Given the description of an element on the screen output the (x, y) to click on. 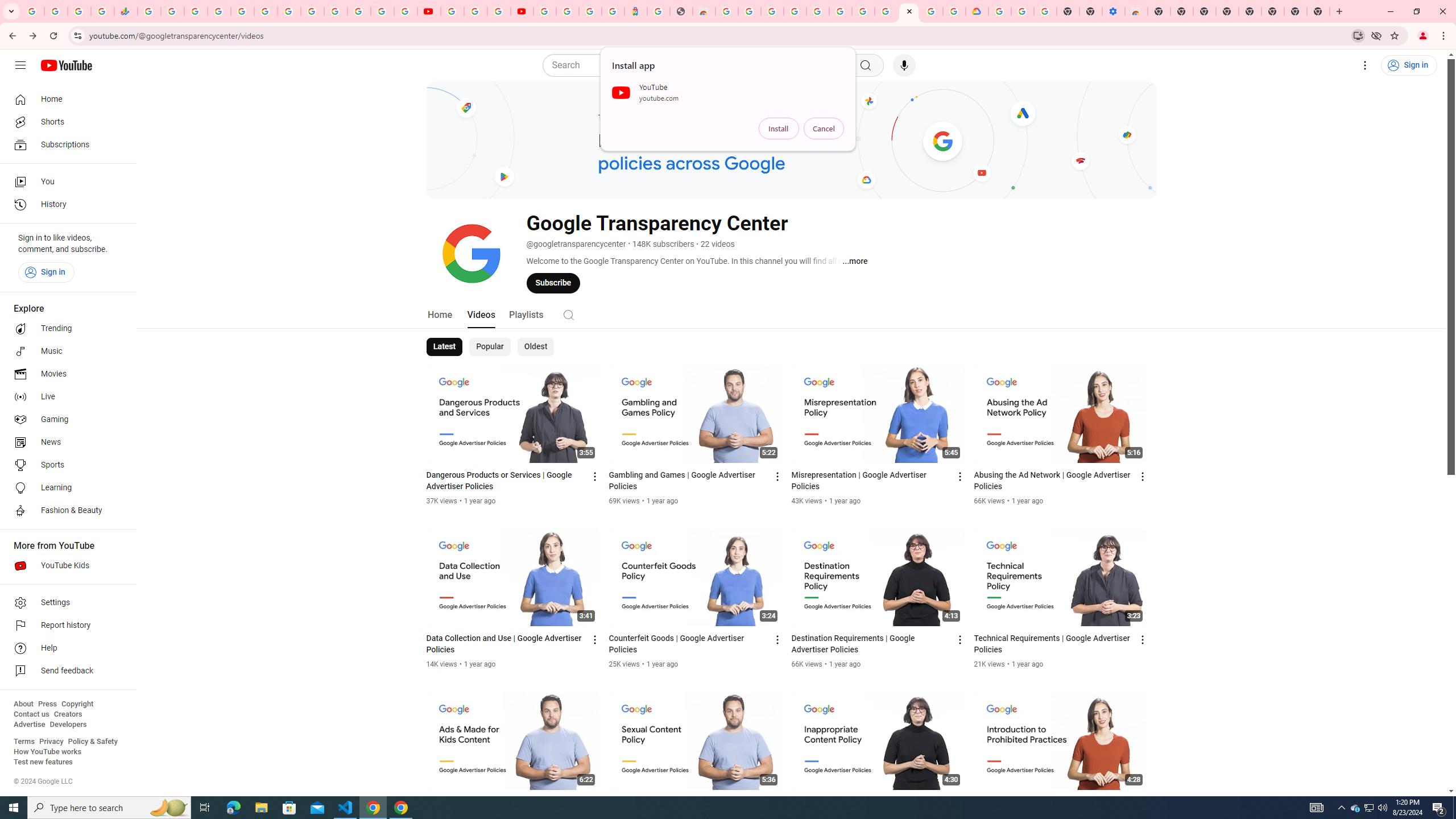
Chrome Web Store - Accessibility extensions (1136, 11)
Sports (64, 464)
About (23, 703)
Google Account Help (863, 11)
Subscribe (552, 282)
Atour Hotel - Google hotels (635, 11)
Sign in - Google Accounts (218, 11)
Ad Settings (794, 11)
